Given the description of an element on the screen output the (x, y) to click on. 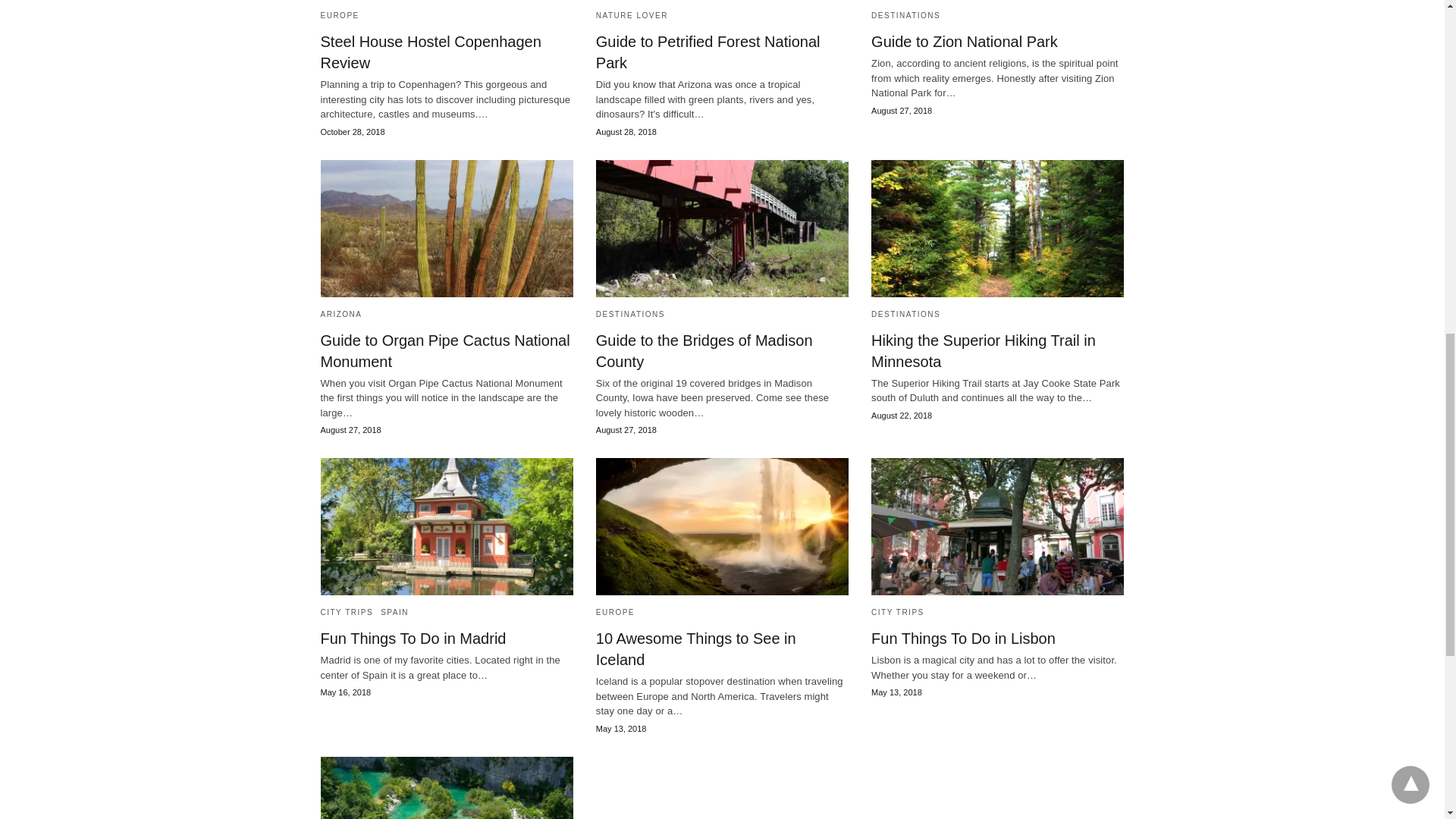
Guide to Petrified Forest National Park (708, 52)
Hiking the Superior Hiking Trail in Minnesota (997, 228)
Fun Things To Do in Madrid (446, 526)
Guide to the Bridges of Madison County (721, 228)
Guide to Organ Pipe Cactus National Monument (446, 228)
Fun Things To Do in Lisbon (997, 526)
Steel House Hostel Copenhagen Review (430, 52)
EUROPE (339, 15)
10 Awesome Things to See in Iceland (721, 526)
NATURE LOVER (631, 15)
